Given the description of an element on the screen output the (x, y) to click on. 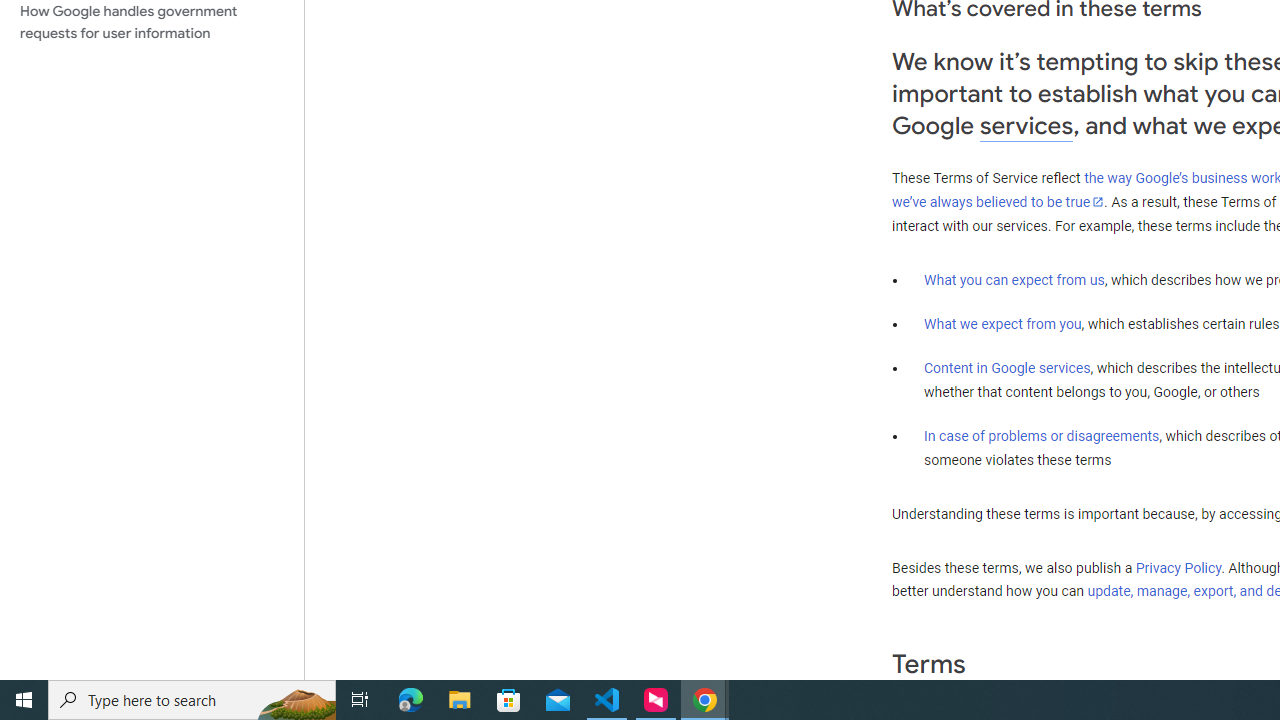
services (1026, 125)
What we expect from you (1002, 323)
What you can expect from us (1014, 279)
